Given the description of an element on the screen output the (x, y) to click on. 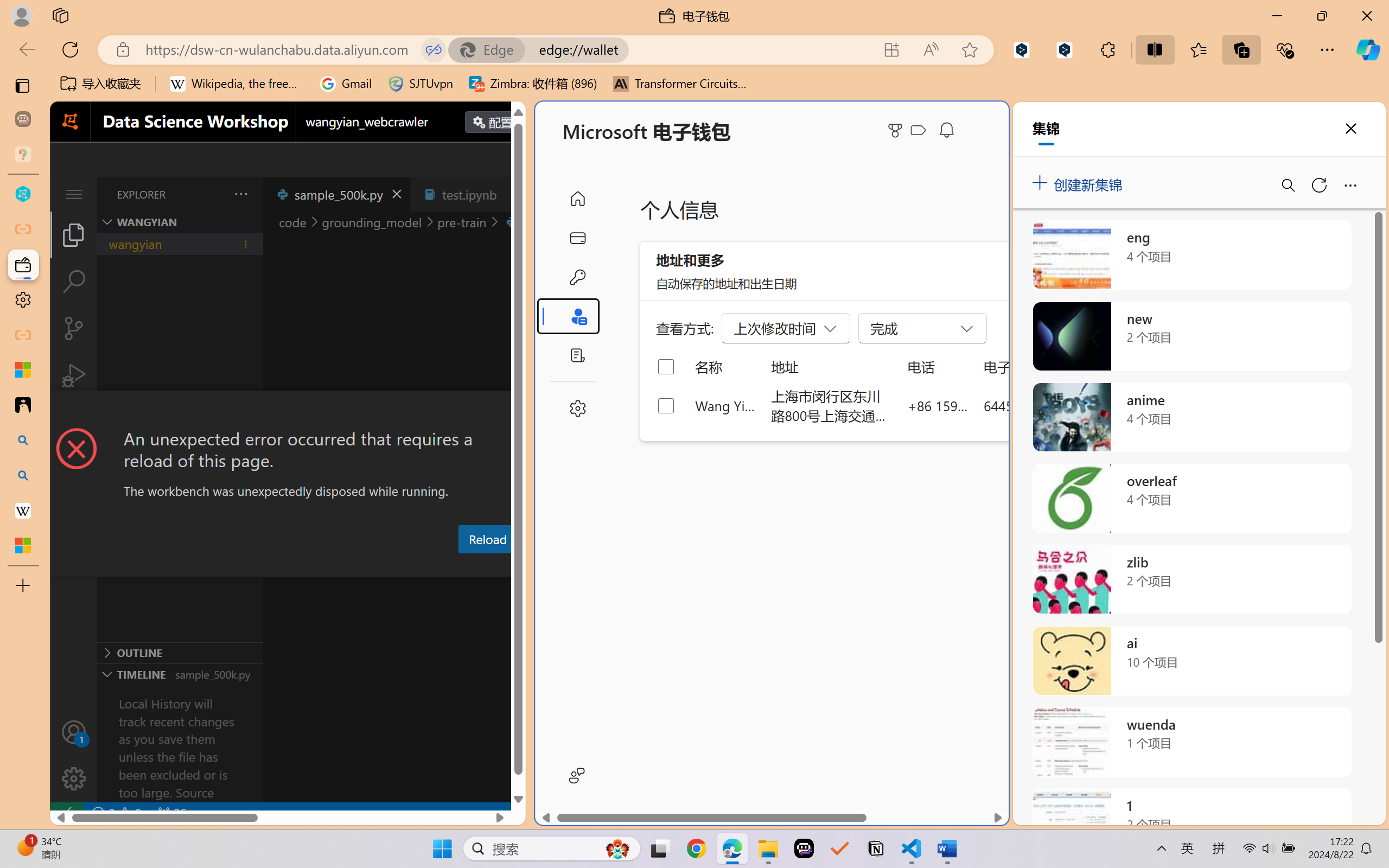
Gmail (345, 83)
Source Control (Ctrl+Shift+G) (73, 328)
Run and Debug (Ctrl+Shift+D) (73, 375)
Views and More Actions... (240, 193)
Manage (73, 755)
